Given the description of an element on the screen output the (x, y) to click on. 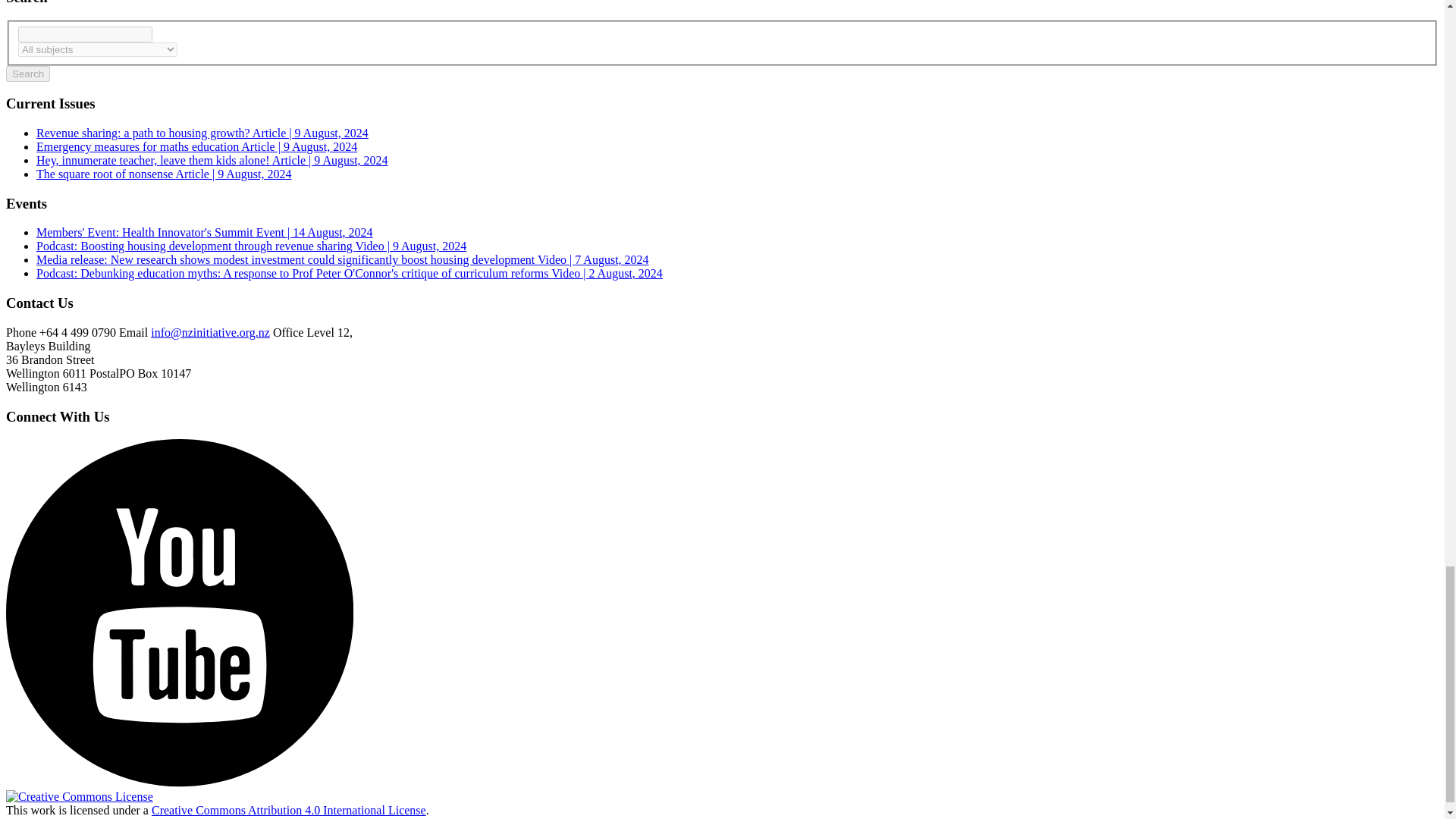
Hey, innumerate teacher, leave them kids alone! (212, 160)
Members' Event: Health Innovator's Summit (204, 232)
Search (27, 73)
Revenue sharing: a path to housing growth? (202, 132)
Emergency measures for maths education (196, 146)
The square root of nonsense (163, 173)
